Given the description of an element on the screen output the (x, y) to click on. 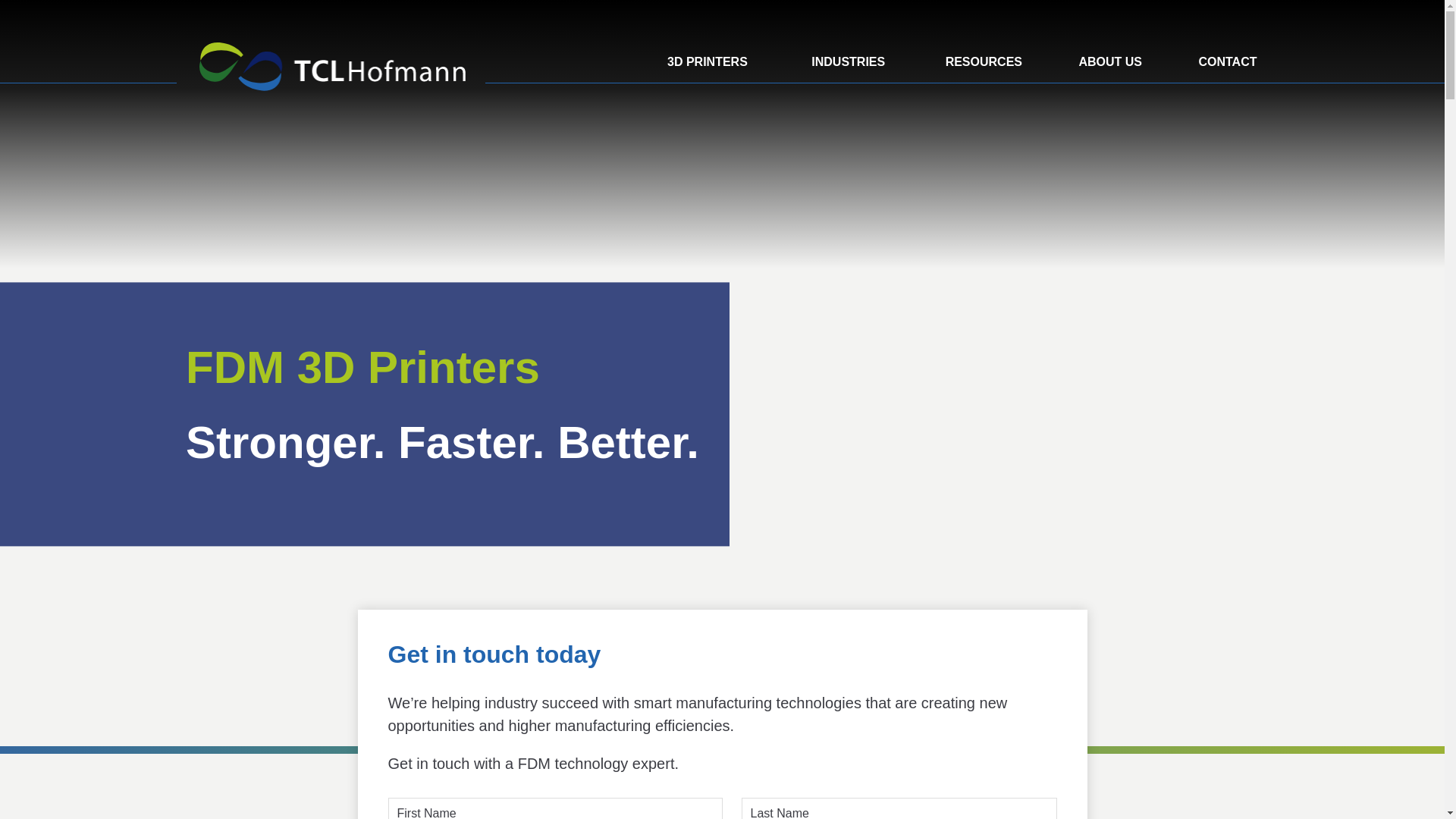
3D PRINTERS (707, 41)
INDUSTRIES (847, 41)
